Given the description of an element on the screen output the (x, y) to click on. 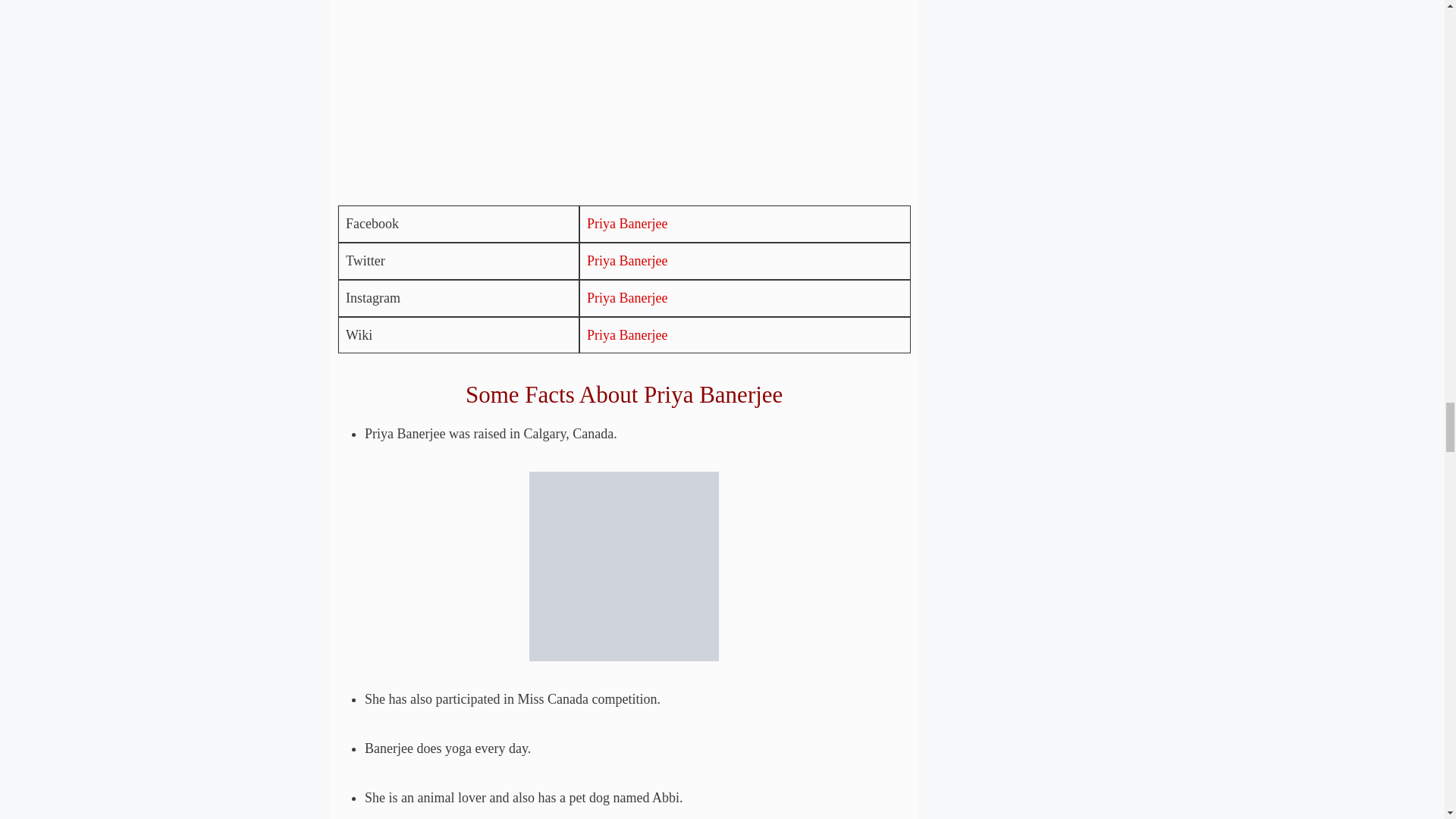
Priya Banerjee (626, 260)
Priya Banerjee (626, 223)
Priya Banerjee (626, 335)
Priya Banerjee (626, 297)
